Given the description of an element on the screen output the (x, y) to click on. 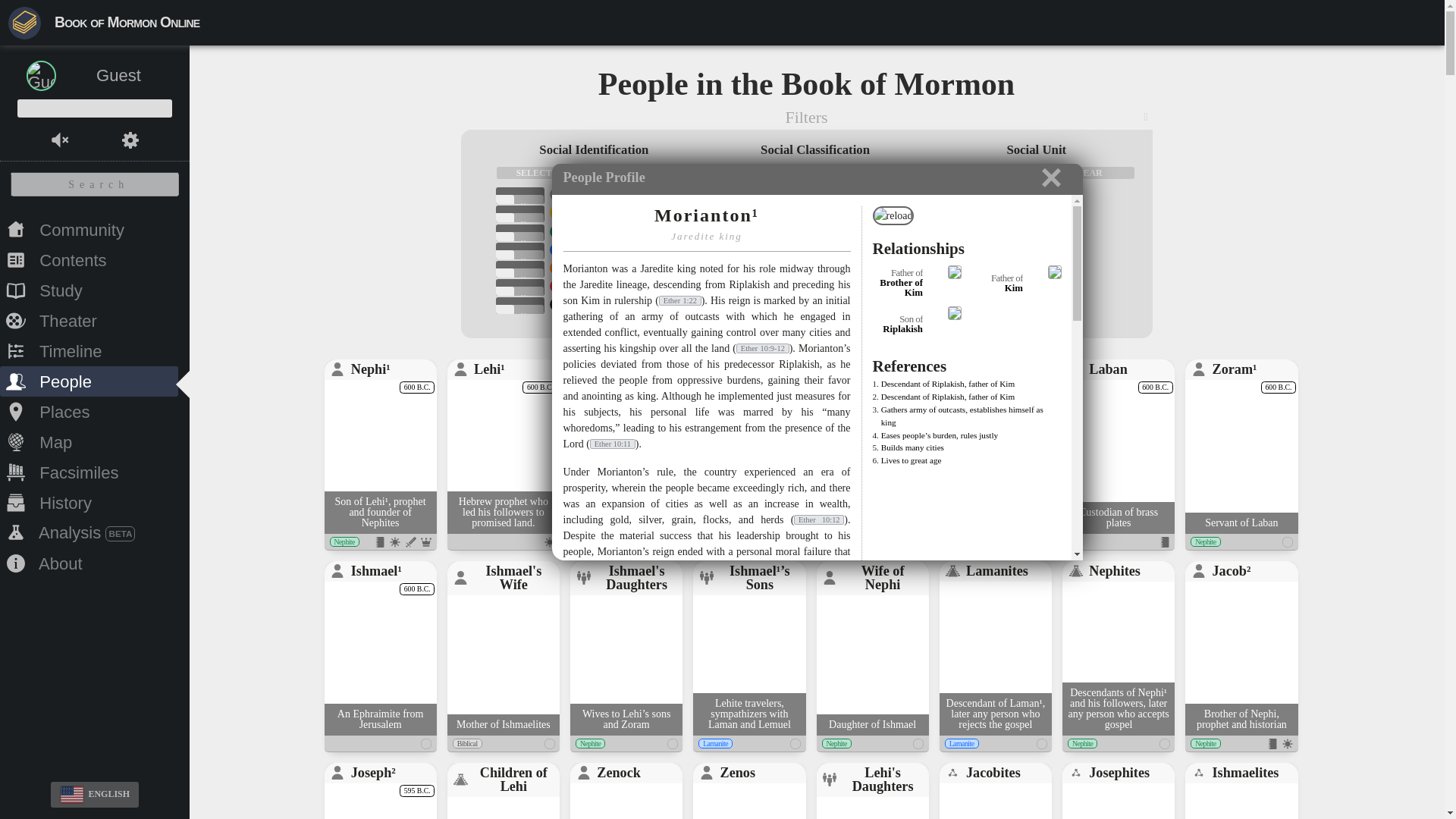
Contents (88, 259)
Ether 10:9-12 (762, 347)
Ether 10:11 (611, 443)
People (88, 381)
Places (88, 411)
ENGLISH (94, 794)
Builds many cities (911, 447)
History (88, 502)
Study (88, 290)
CLEAR (864, 173)
